Given the description of an element on the screen output the (x, y) to click on. 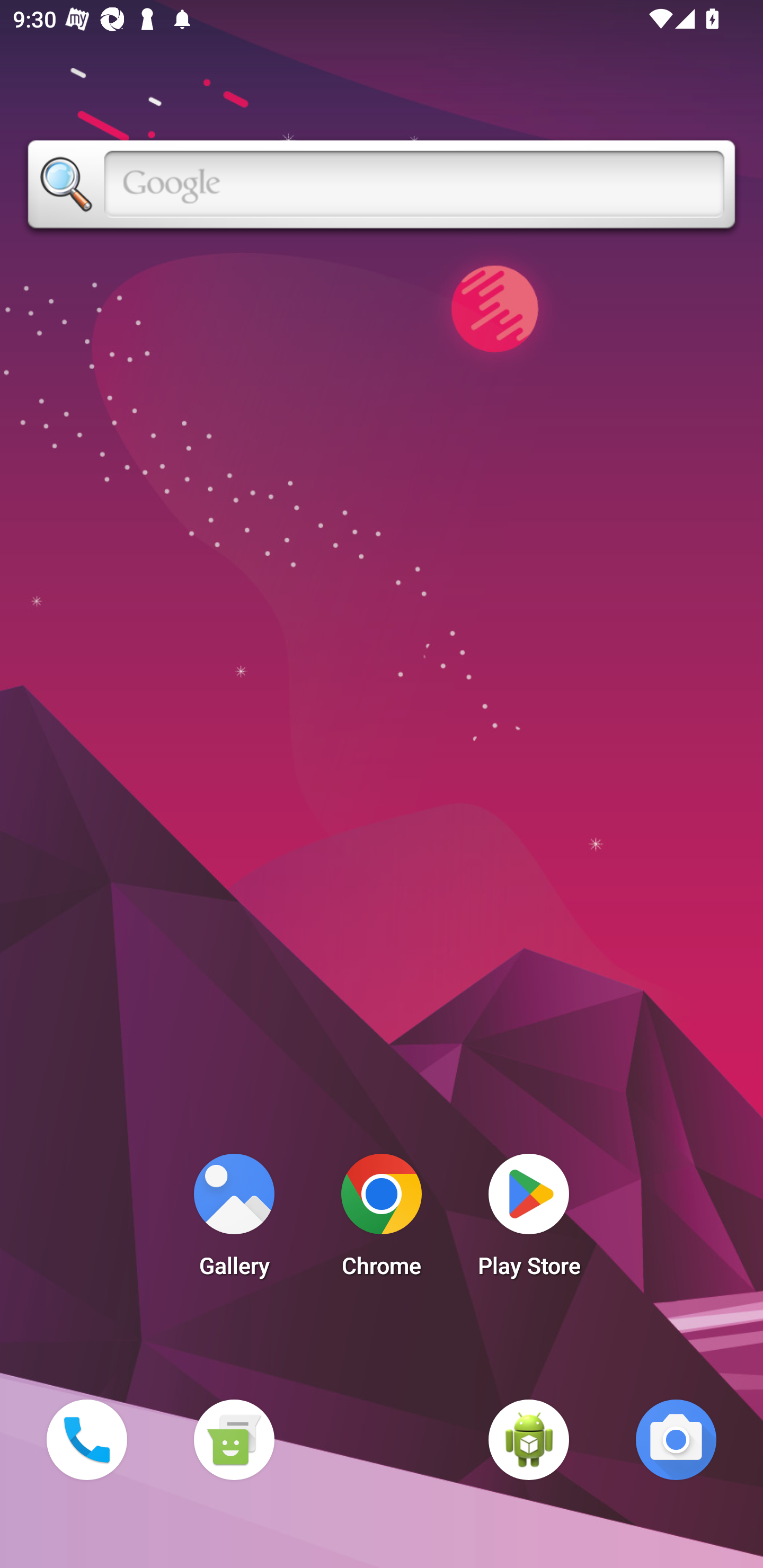
Gallery (233, 1220)
Chrome (381, 1220)
Play Store (528, 1220)
Phone (86, 1439)
Messaging (233, 1439)
WebView Browser Tester (528, 1439)
Camera (676, 1439)
